Given the description of an element on the screen output the (x, y) to click on. 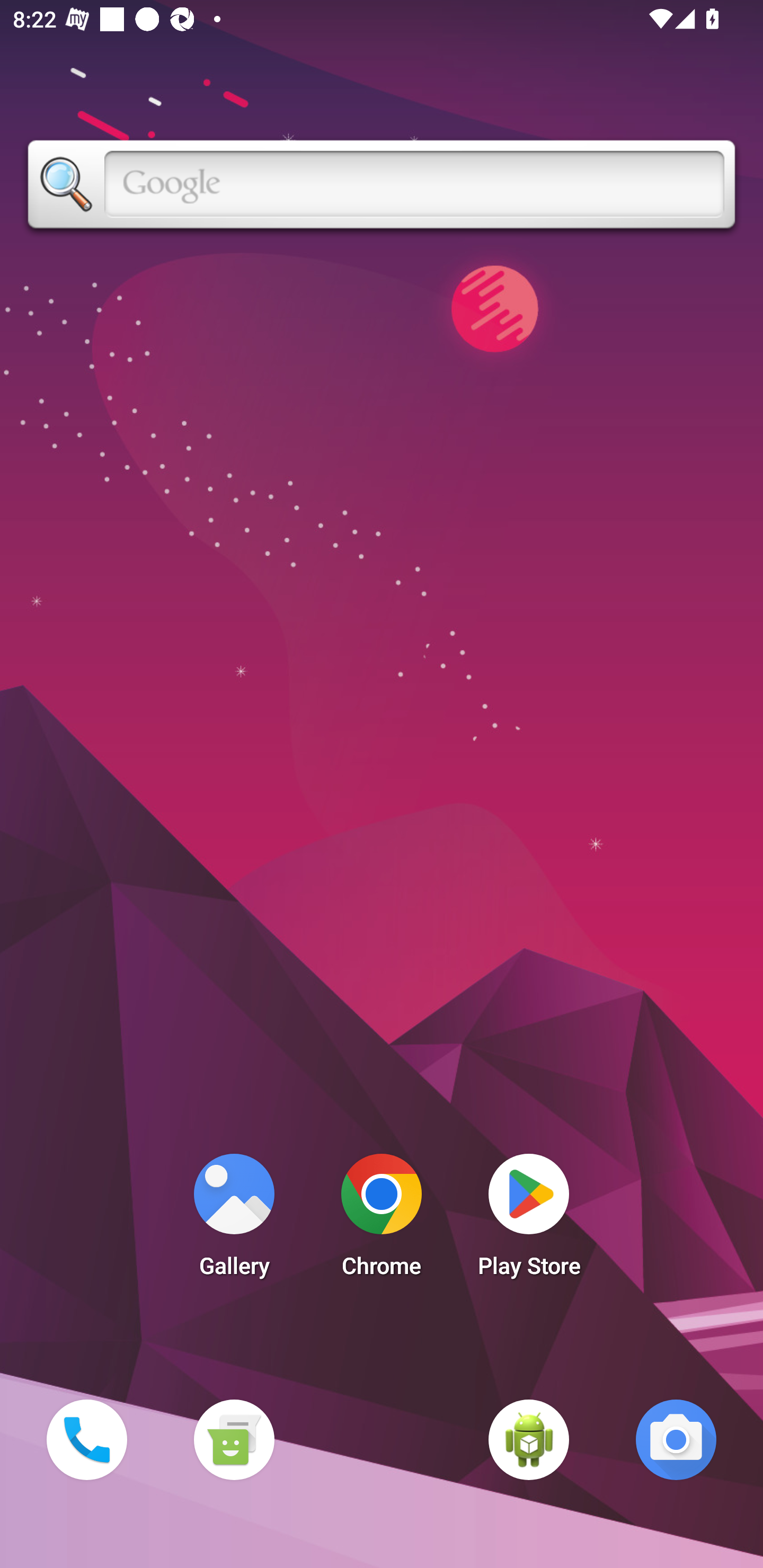
Gallery (233, 1220)
Chrome (381, 1220)
Play Store (528, 1220)
Phone (86, 1439)
Messaging (233, 1439)
WebView Browser Tester (528, 1439)
Camera (676, 1439)
